Given the description of an element on the screen output the (x, y) to click on. 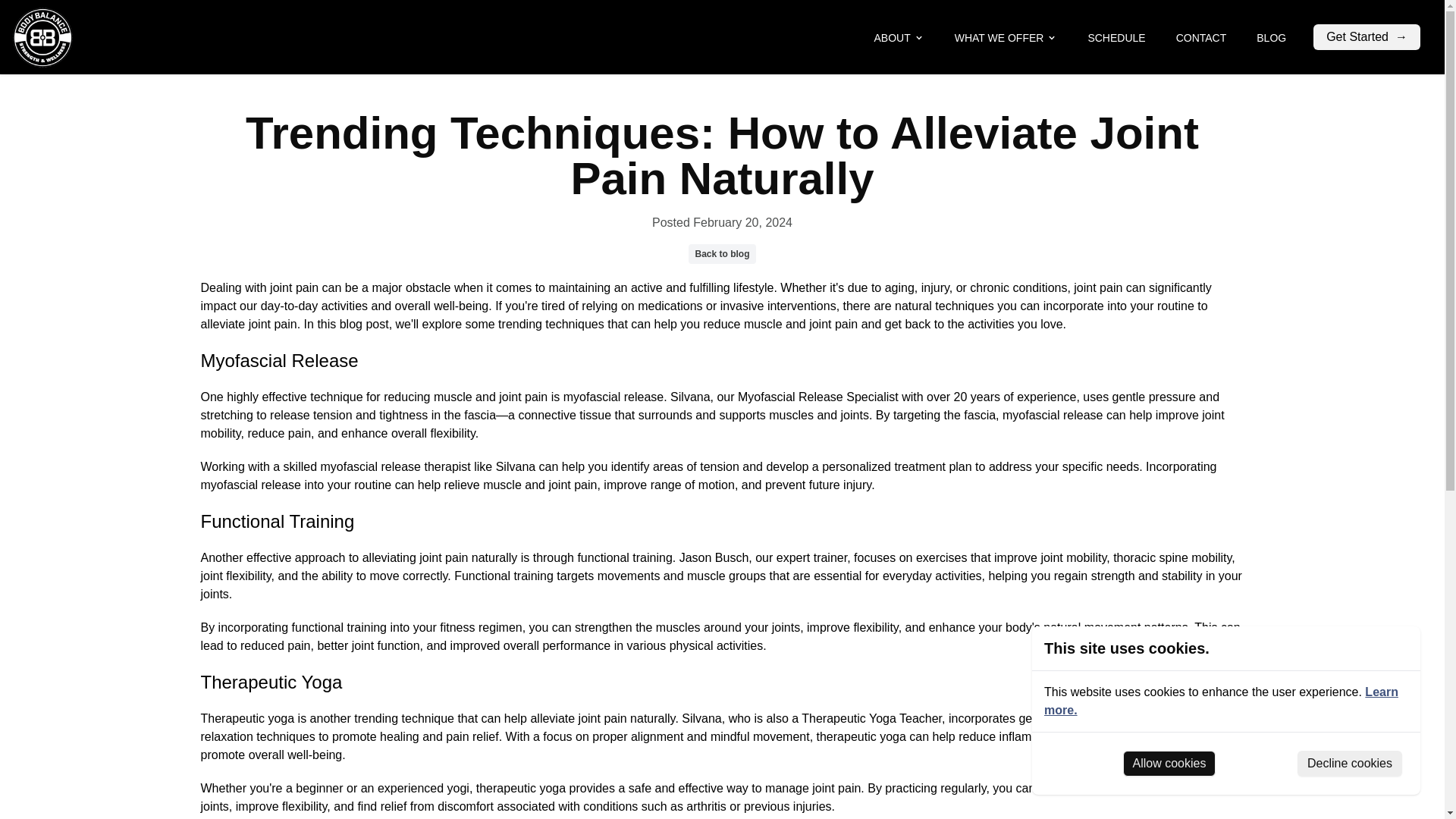
Back to blog (721, 253)
WHAT WE OFFER (1006, 37)
Learn more. (1220, 700)
Allow cookies (1168, 763)
Decline cookies (1349, 763)
